Given the description of an element on the screen output the (x, y) to click on. 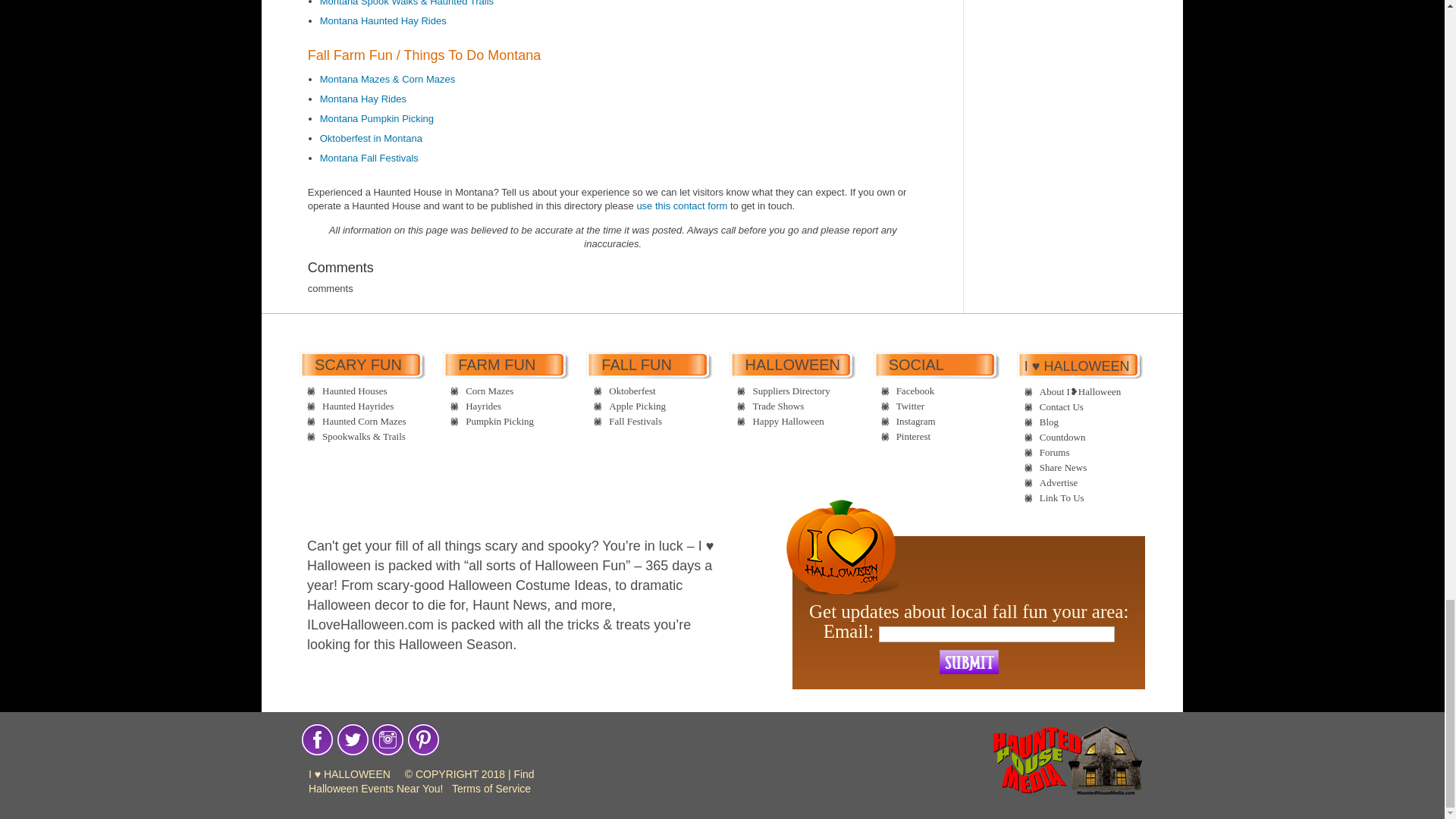
Submit (968, 662)
